Given the description of an element on the screen output the (x, y) to click on. 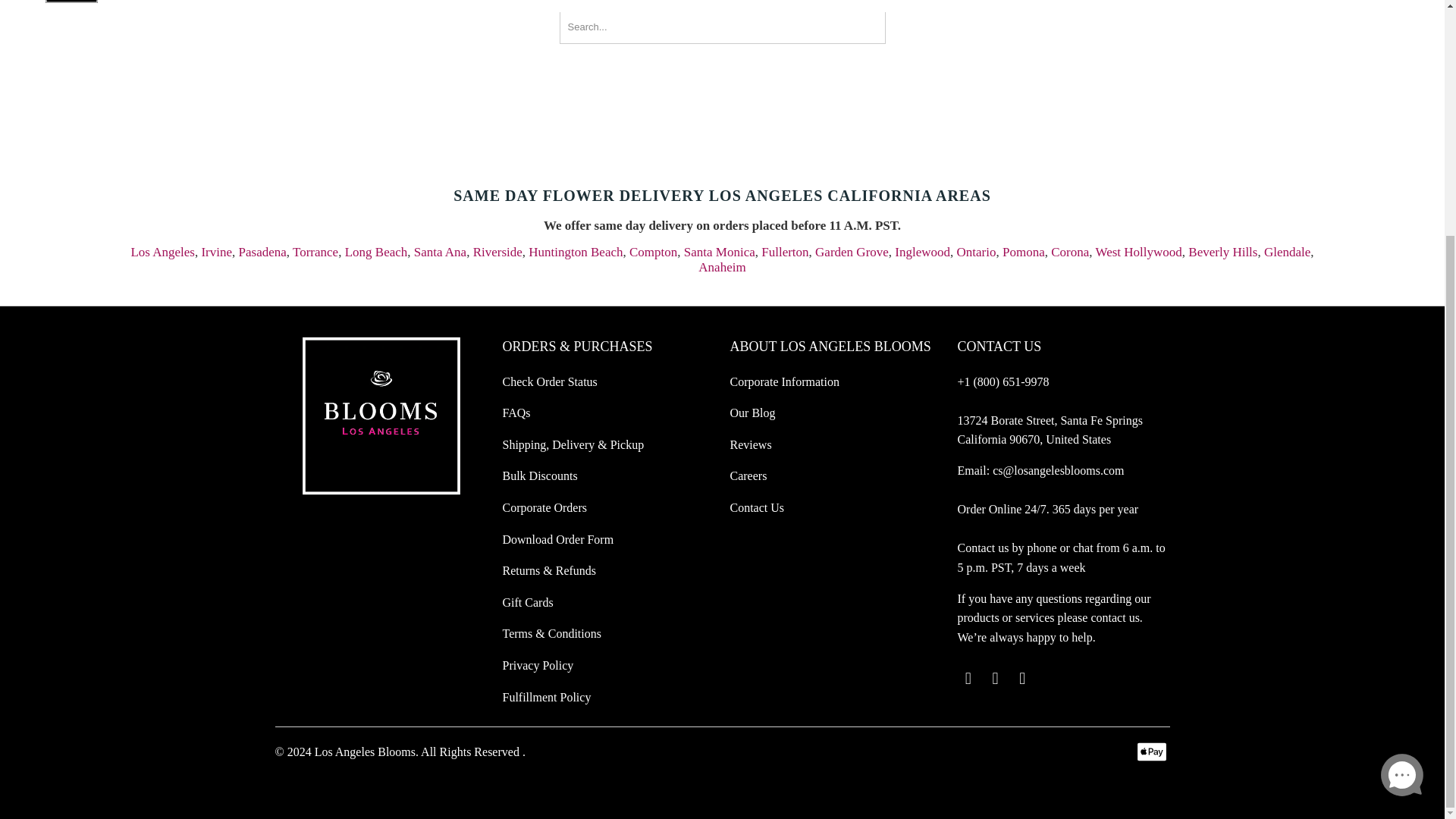
Los Angeles Blooms on Instagram (1022, 678)
Los Angeles Blooms on Facebook (995, 678)
Los Angeles Blooms on Twitter (967, 678)
